Given the description of an element on the screen output the (x, y) to click on. 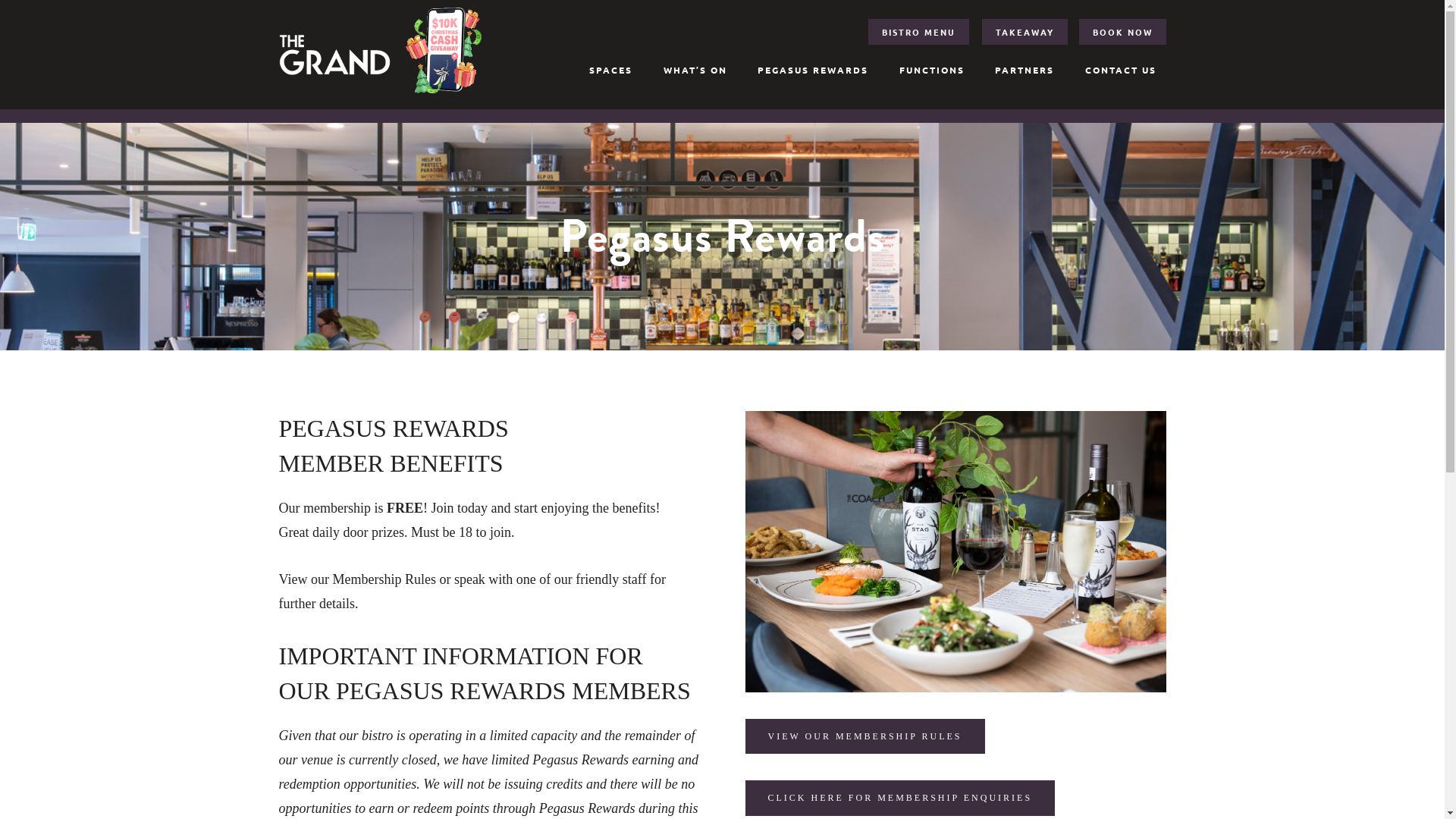
CONTACT US Element type: text (1120, 69)
SPACES Element type: text (610, 69)
PEGASUS REWARDS Element type: text (812, 69)
CLICK HERE FOR MEMBERSHIP ENQUIRIES Element type: text (899, 797)
FUNCTIONS Element type: text (930, 69)
DSC_4332 Element type: hover (954, 551)
BISTRO MENU Element type: text (918, 31)
TAKEAWAY Element type: text (1024, 31)
PARTNERS Element type: text (1024, 69)
VIEW OUR MEMBERSHIP RULES Element type: text (864, 736)
CHRISTMAS CASH GIVEAWAY Element type: text (442, 50)
BOOK NOW Element type: text (1122, 31)
